Given the description of an element on the screen output the (x, y) to click on. 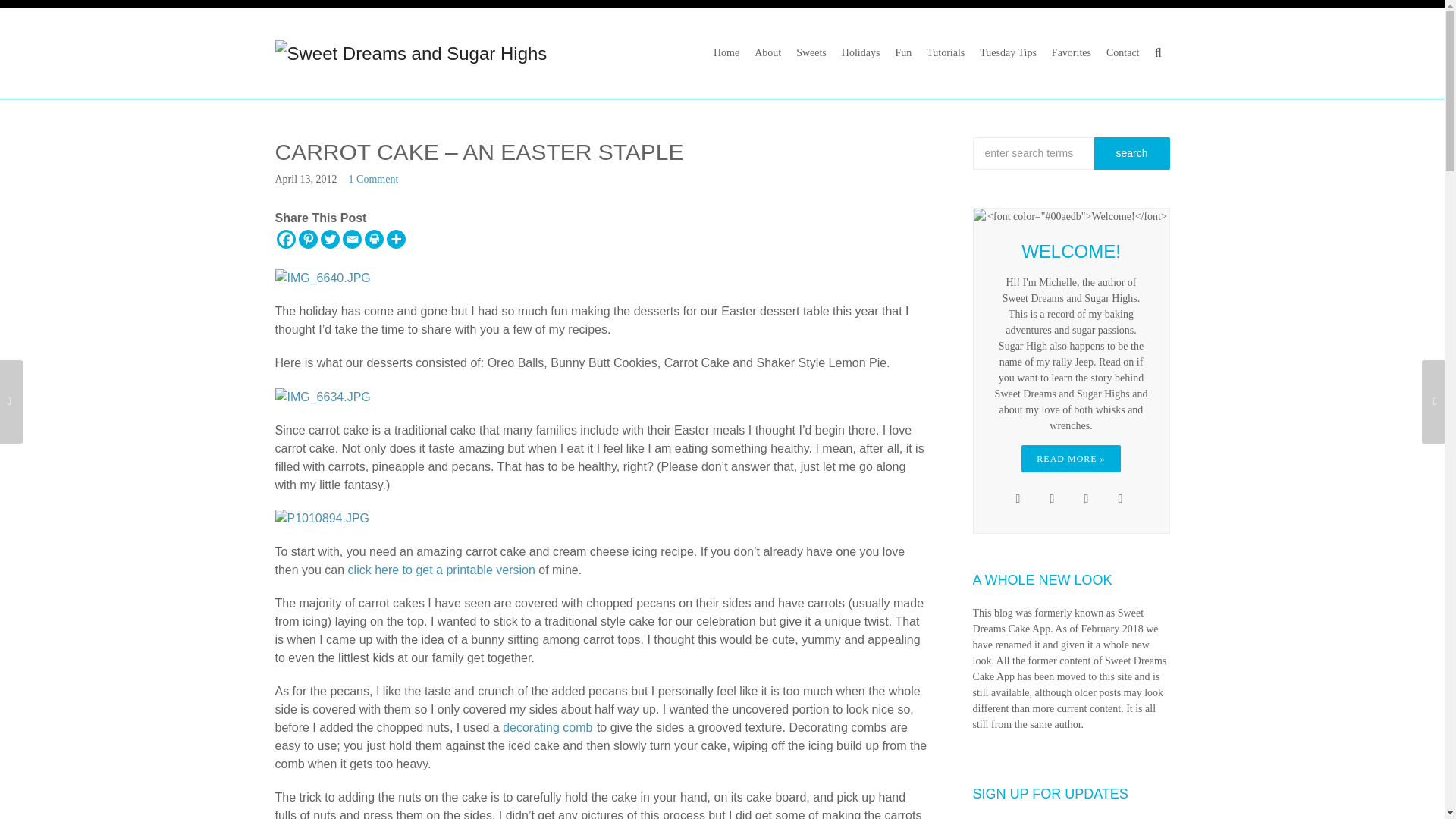
Twitter (329, 239)
Sweet Dreams and Sugar Highs (411, 52)
Search (1131, 153)
Pinterest (307, 239)
More (396, 239)
decorating comb (547, 727)
Sweets (811, 53)
Favorites (1071, 53)
Holidays (861, 53)
Search (1131, 153)
Tutorials (945, 53)
Contact (1123, 53)
1 Comment (373, 179)
Print (373, 239)
Email (351, 239)
